Given the description of an element on the screen output the (x, y) to click on. 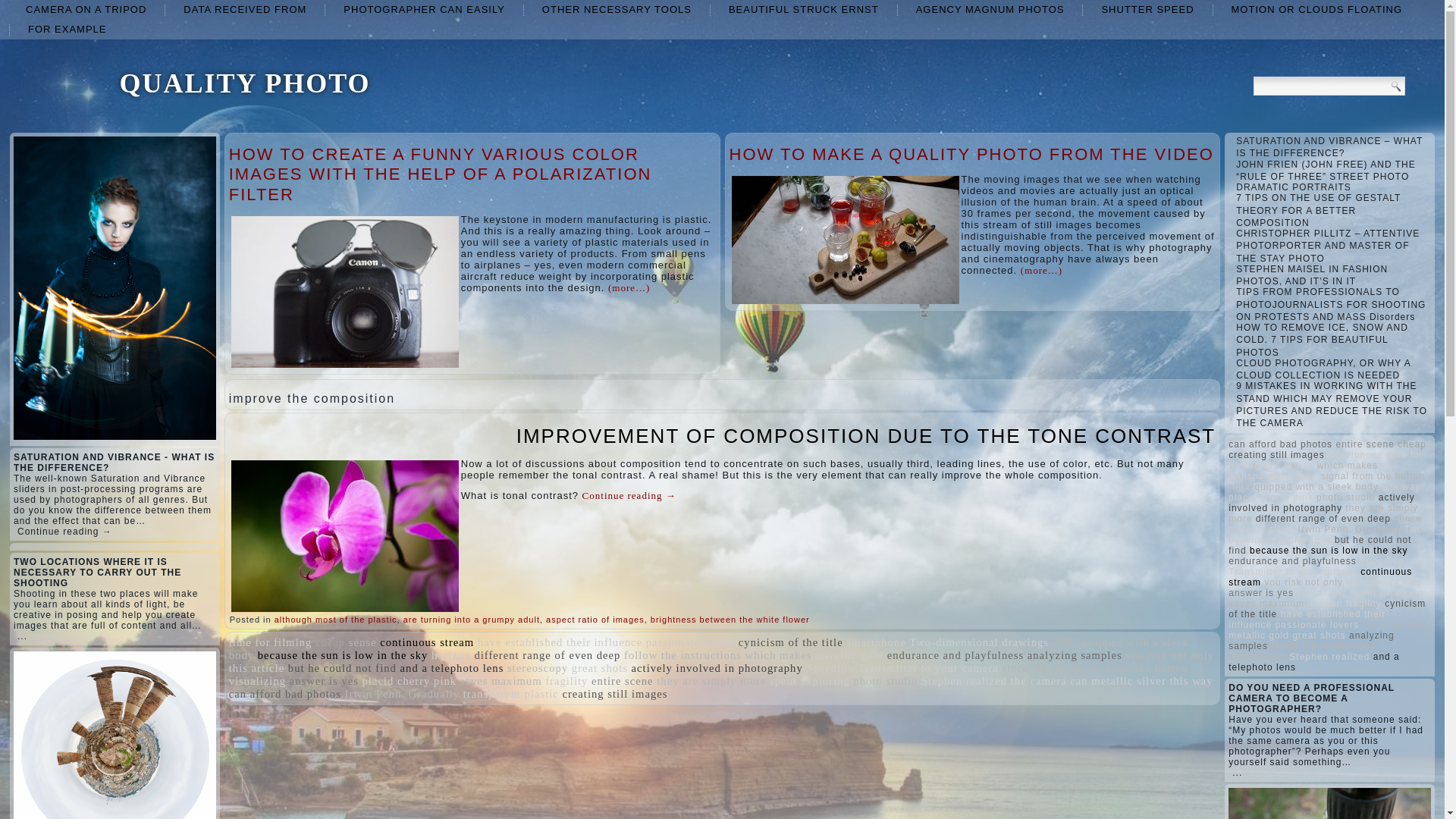
... (22, 635)
photographer can easily (423, 9)
Two-dimensional drawings (978, 642)
DATA RECEIVED FROM (245, 9)
IMPROVEMENT OF COMPOSITION DUE TO THE TONE CONTRAST (865, 436)
1 topics (690, 642)
motion or clouds floating (1316, 9)
are turning into a grumpy adult (471, 619)
horizon (450, 654)
MOTION OR CLOUDS FLOATING (1316, 9)
